Given the description of an element on the screen output the (x, y) to click on. 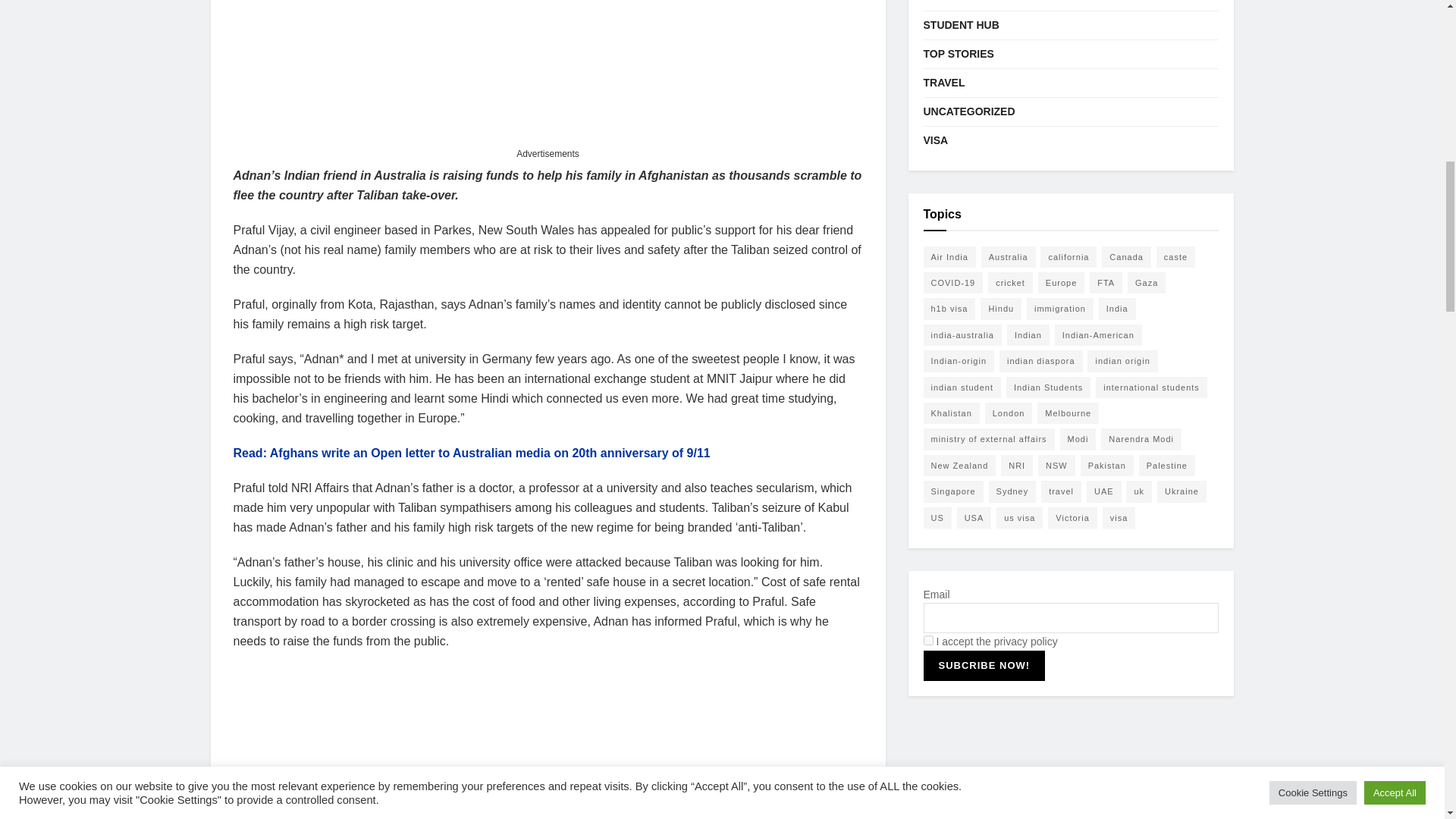
Advertisement (547, 72)
on (928, 640)
SUBCRIBE NOW! (984, 665)
